Given the description of an element on the screen output the (x, y) to click on. 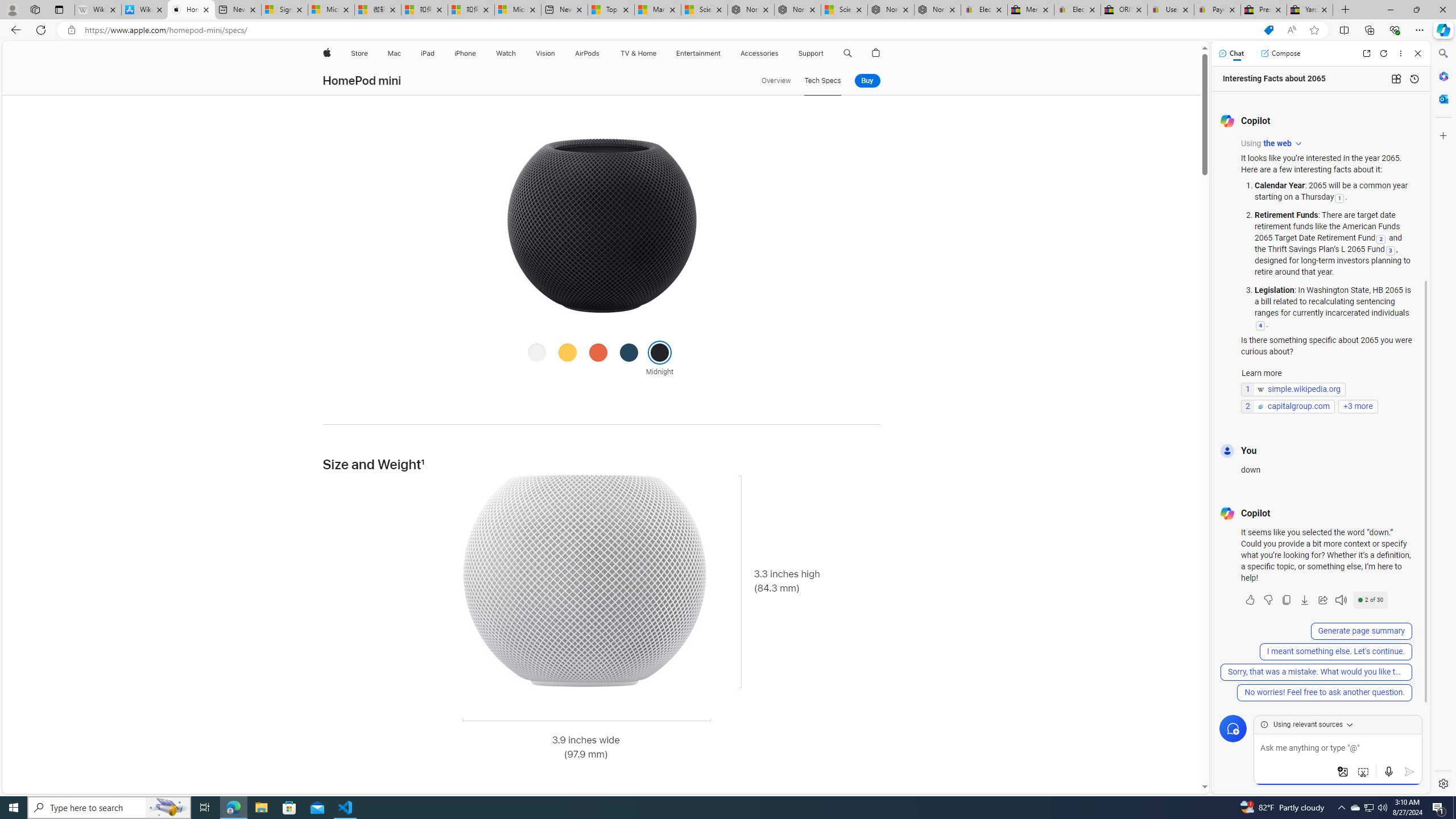
Class: globalnav-item globalnav-search shift-0-1 (847, 53)
Class: globalnav-submenu-trigger-item (825, 53)
Support (810, 53)
Mac menu (402, 53)
Vision menu (557, 53)
Support (810, 53)
